Given the description of an element on the screen output the (x, y) to click on. 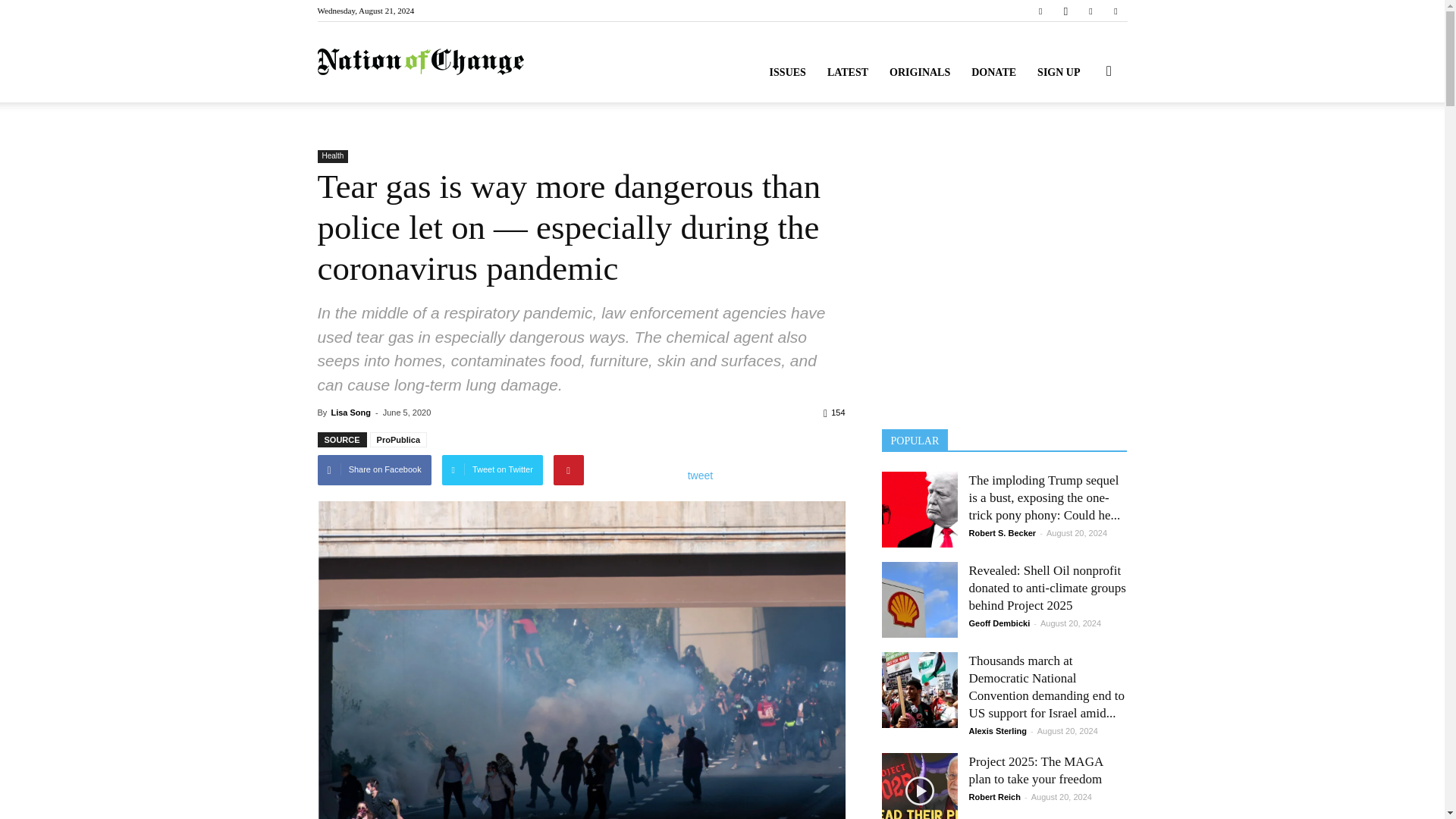
Facebook (1040, 10)
Instagram (1065, 10)
NationofChange (419, 61)
Youtube (1114, 10)
Twitter (1090, 10)
ISSUES (787, 72)
